Given the description of an element on the screen output the (x, y) to click on. 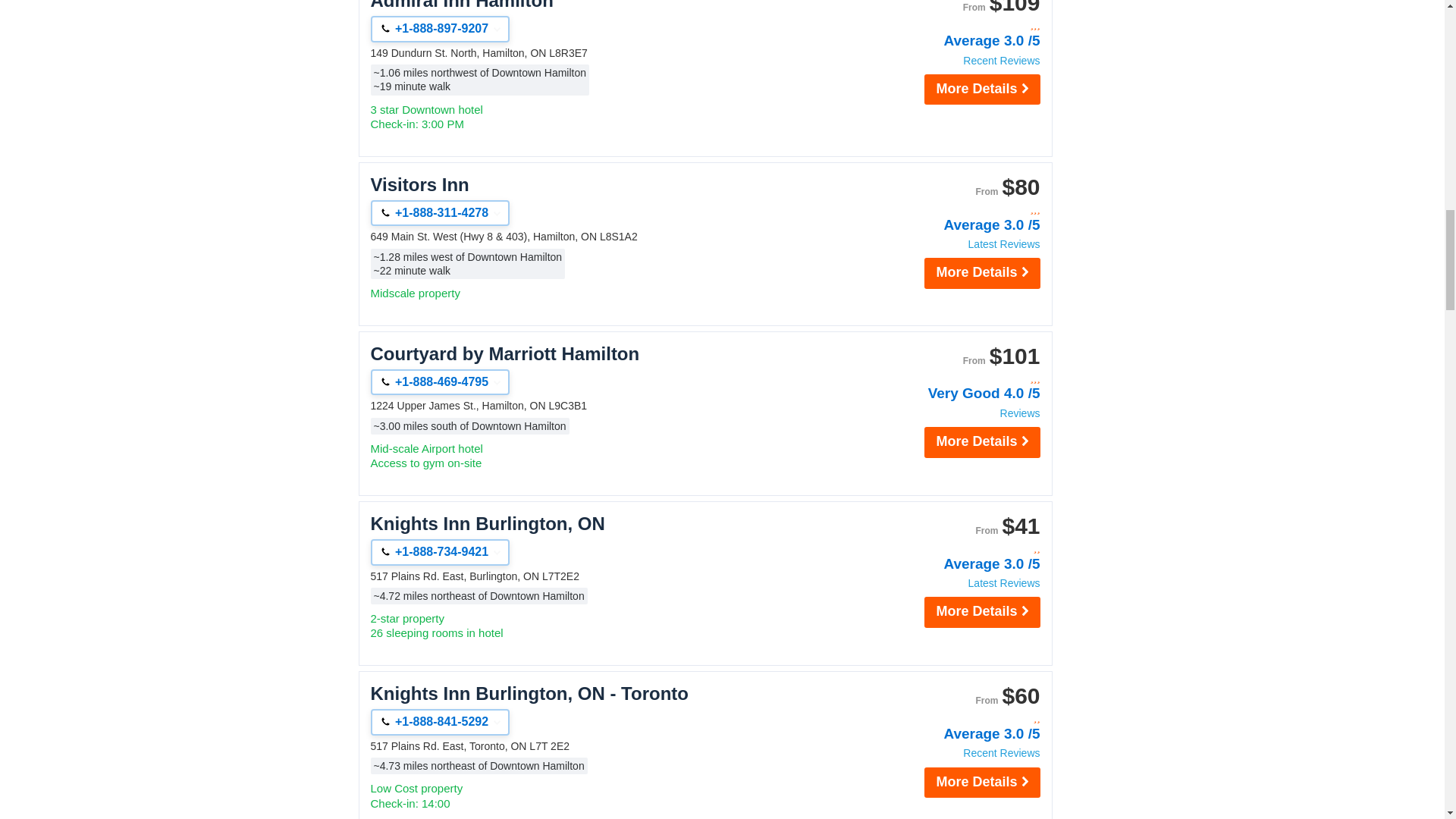
3 stars (958, 378)
2 stars (958, 548)
3 stars (958, 209)
2 stars (958, 717)
3 stars (958, 24)
